Given the description of an element on the screen output the (x, y) to click on. 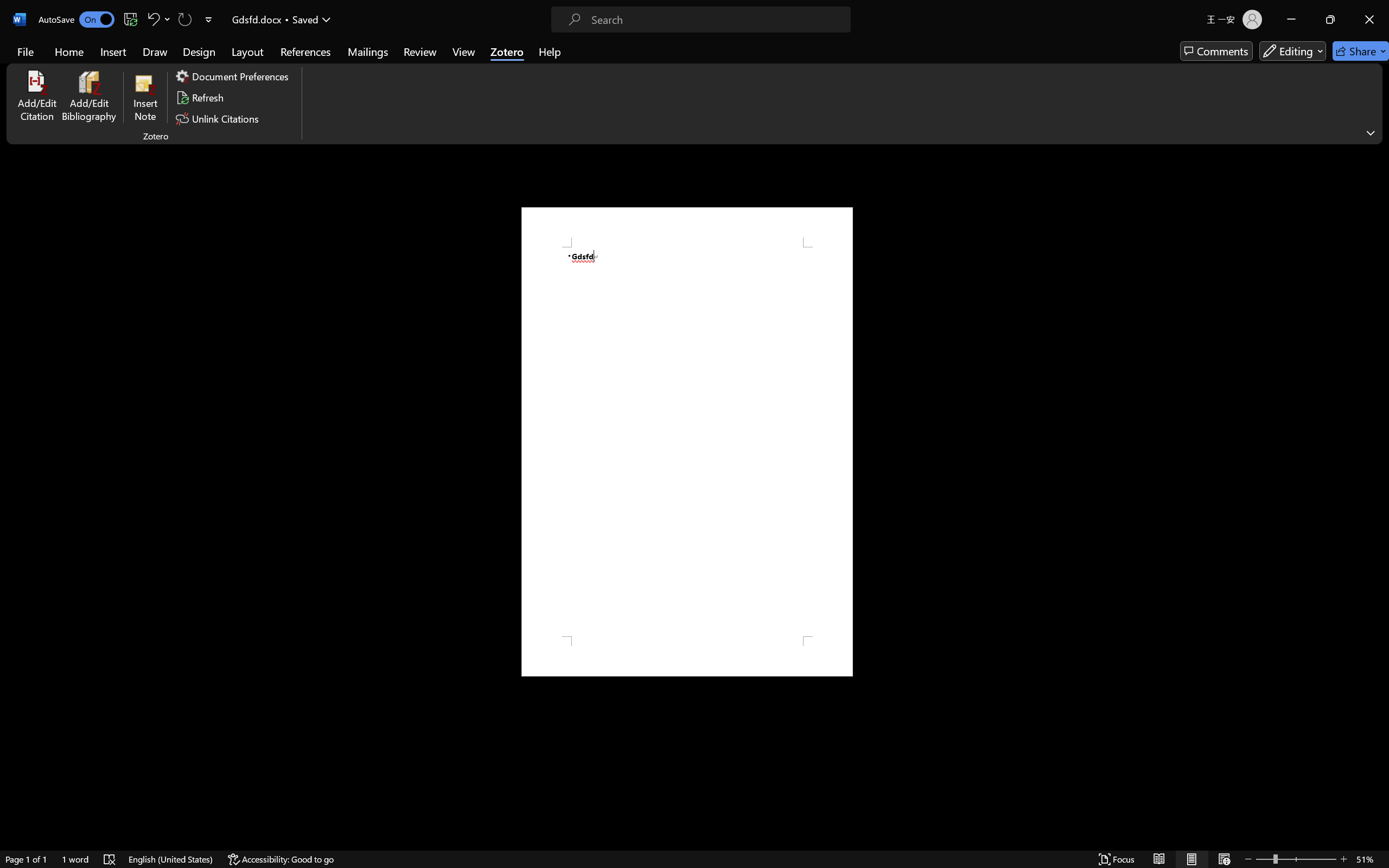
Page 1 content (686, 441)
